Given the description of an element on the screen output the (x, y) to click on. 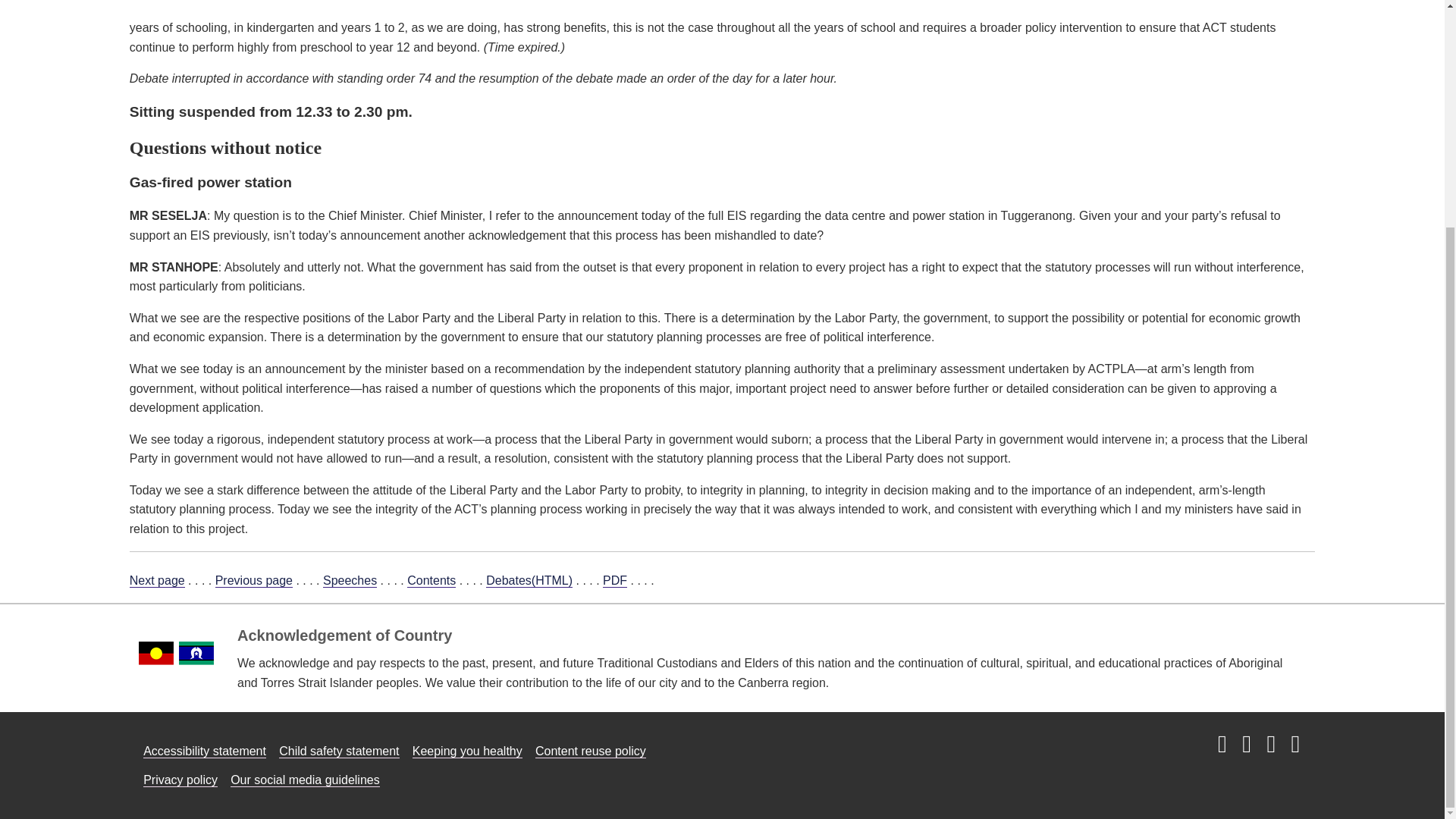
Child safety statement (338, 751)
Accessibility statement (204, 751)
Speeches (350, 581)
Read about how we're keeping our Assembly healthy (467, 751)
Keeping you healthy (467, 751)
Read our child safety committment (338, 751)
Previous page (253, 581)
Contents (431, 581)
Read our access and inclusion statement (204, 751)
Next page (156, 581)
Read our content sharing and re-use policy (590, 751)
Our social media guidelines (305, 780)
Content reuse policy (590, 751)
Read our social media guidelines (305, 780)
Read our privacy policy (179, 780)
